Given the description of an element on the screen output the (x, y) to click on. 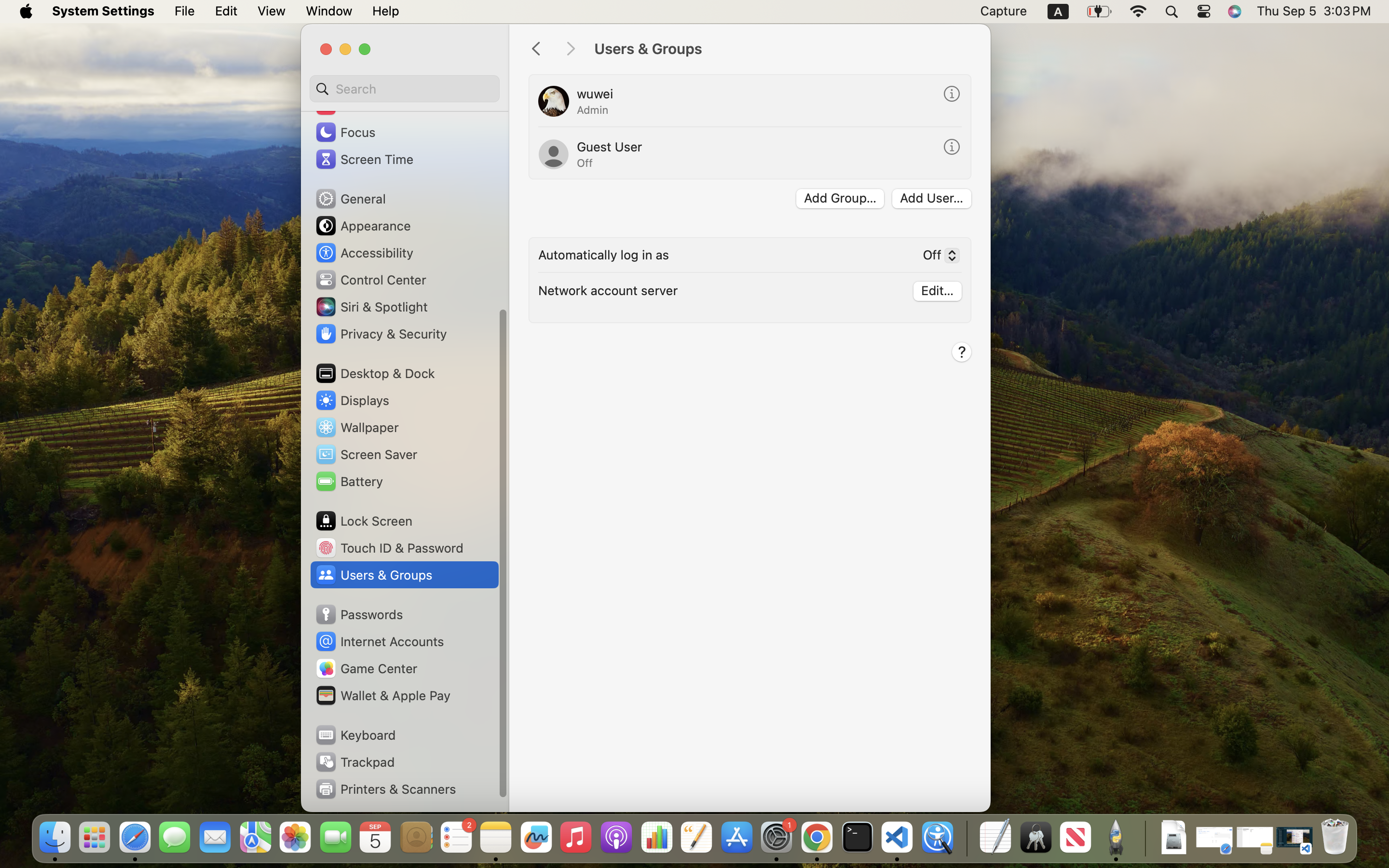
Battery Element type: AXStaticText (348, 480)
Control Center Element type: AXStaticText (370, 279)
Wallet & Apple Pay Element type: AXStaticText (382, 694)
Internet Accounts Element type: AXStaticText (378, 640)
Off Element type: AXPopUpButton (936, 256)
